Given the description of an element on the screen output the (x, y) to click on. 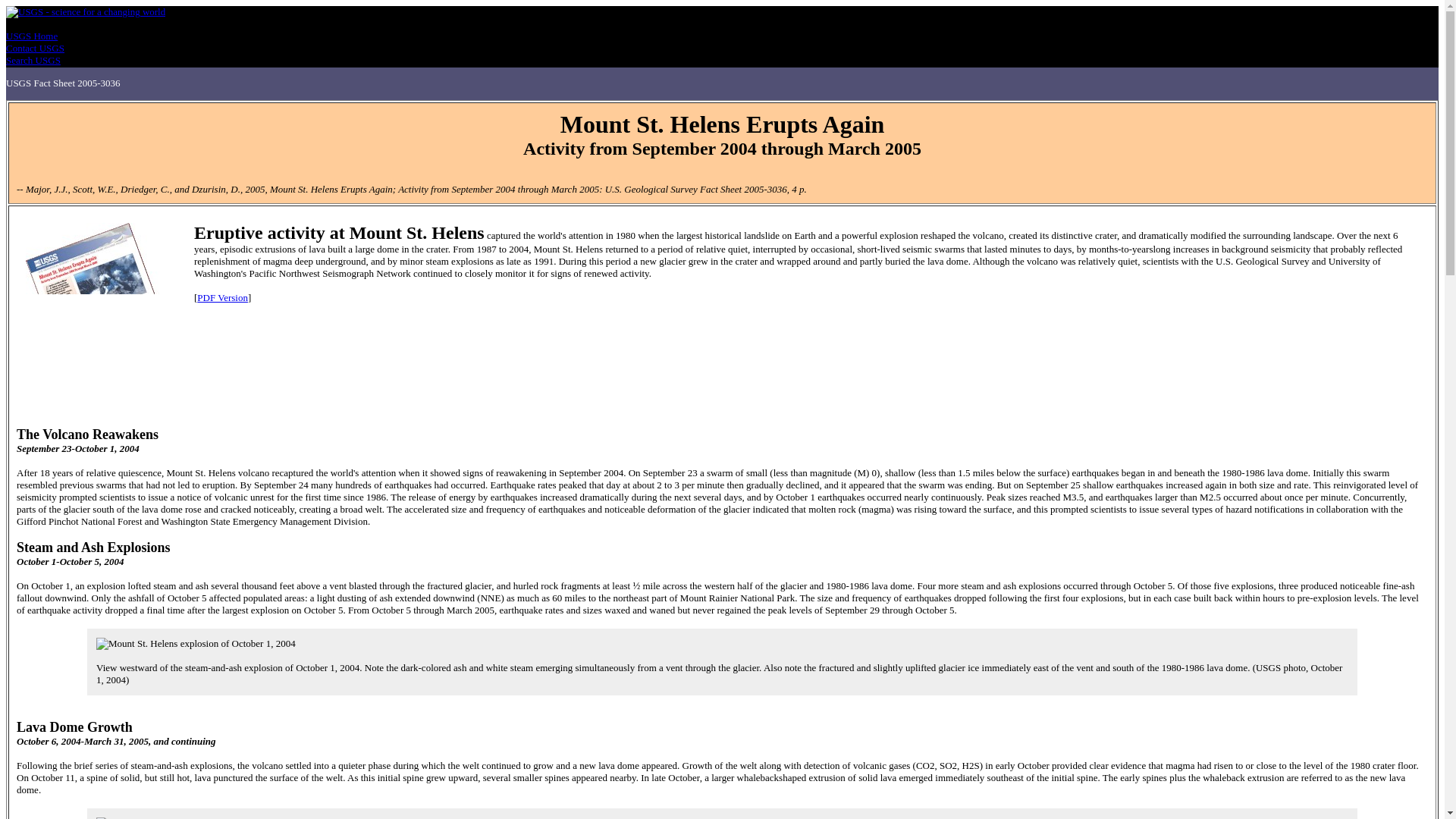
U.S. Geological Survey Home Page (85, 11)
PDF Version (221, 297)
Search USGS (33, 60)
USGS Home (31, 35)
Contact USGS (34, 48)
